Given the description of an element on the screen output the (x, y) to click on. 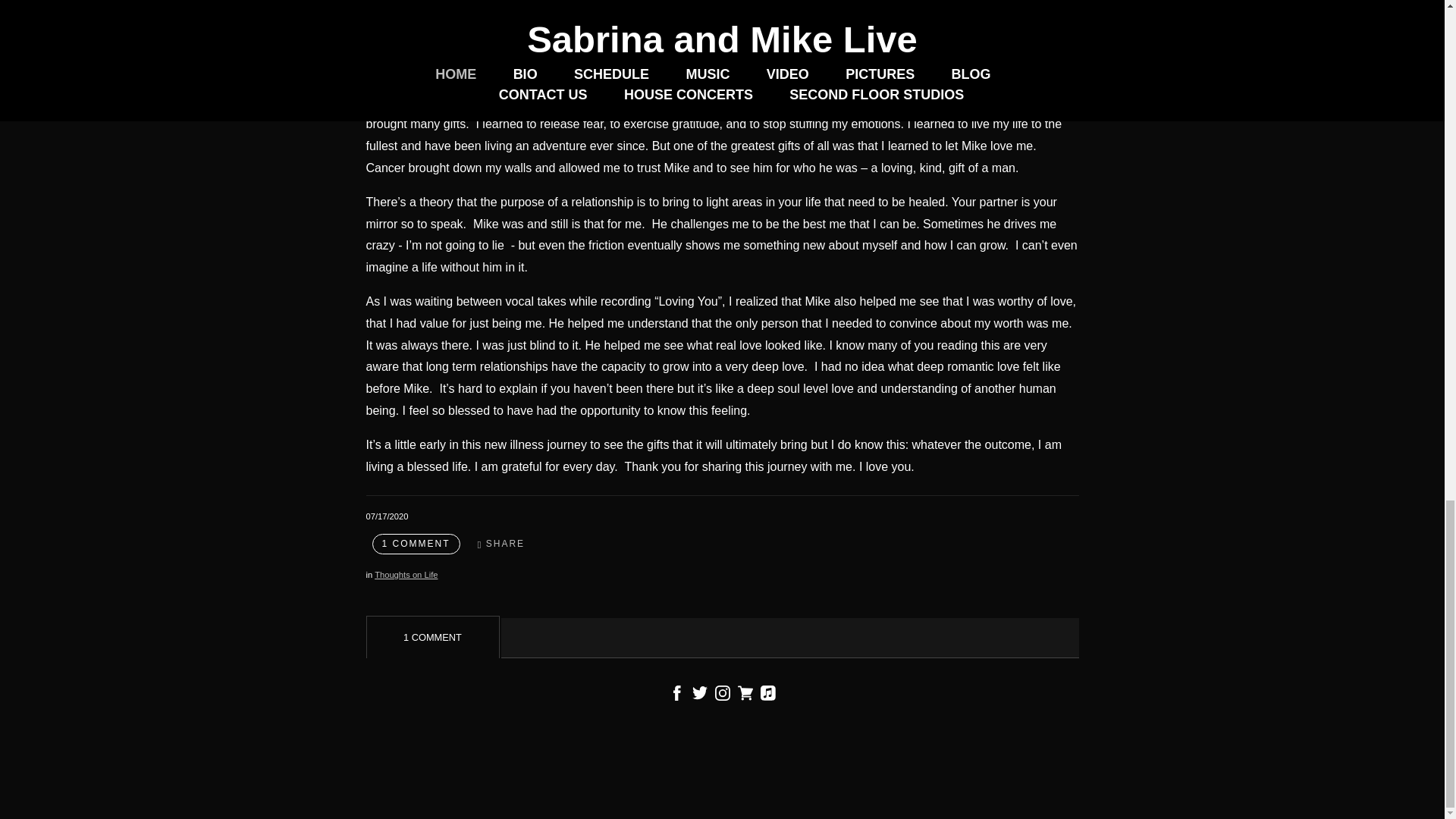
July 17, 2020 23:45 (386, 515)
SHARE (501, 543)
1 COMMENT (415, 543)
Thoughts on Life (406, 574)
1 comment (415, 543)
